Given the description of an element on the screen output the (x, y) to click on. 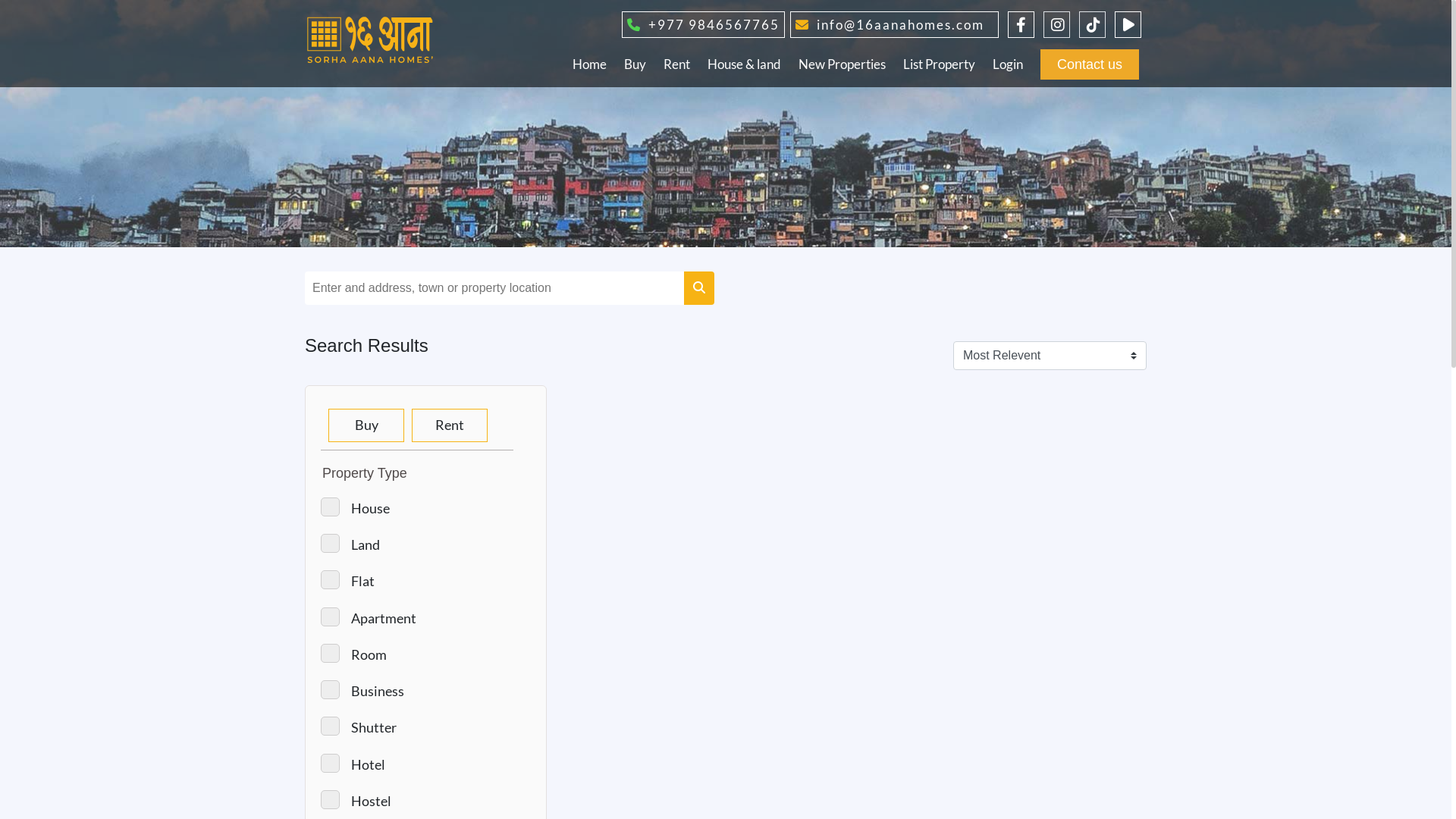
Rent Element type: text (676, 64)
info@16aanahomes.com Element type: text (887, 23)
+977 9846567765 Element type: text (700, 23)
Contact us Element type: text (1089, 64)
List Property Element type: text (939, 64)
House & land Element type: text (744, 64)
Buy Element type: text (635, 64)
Home Element type: text (589, 64)
New Properties Element type: text (841, 64)
Login Element type: text (1007, 64)
Buy Element type: text (366, 425)
Contact us Element type: text (1089, 64)
Rent Element type: text (449, 425)
